Given the description of an element on the screen output the (x, y) to click on. 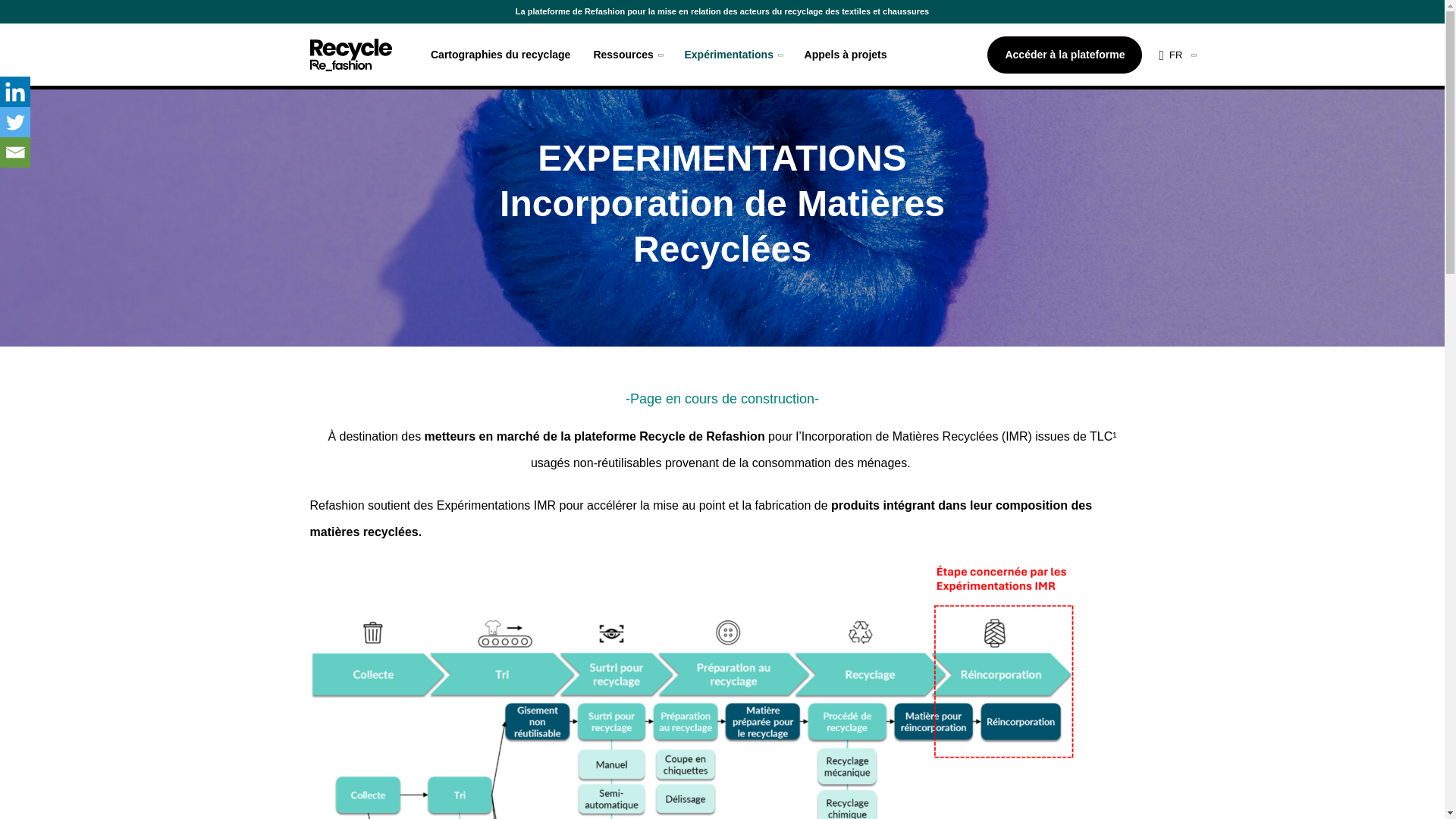
Email (15, 152)
FR (1176, 55)
Ressources (626, 54)
Cartographies du recyclage (500, 54)
Linkedin (15, 91)
Twitter (15, 122)
